Given the description of an element on the screen output the (x, y) to click on. 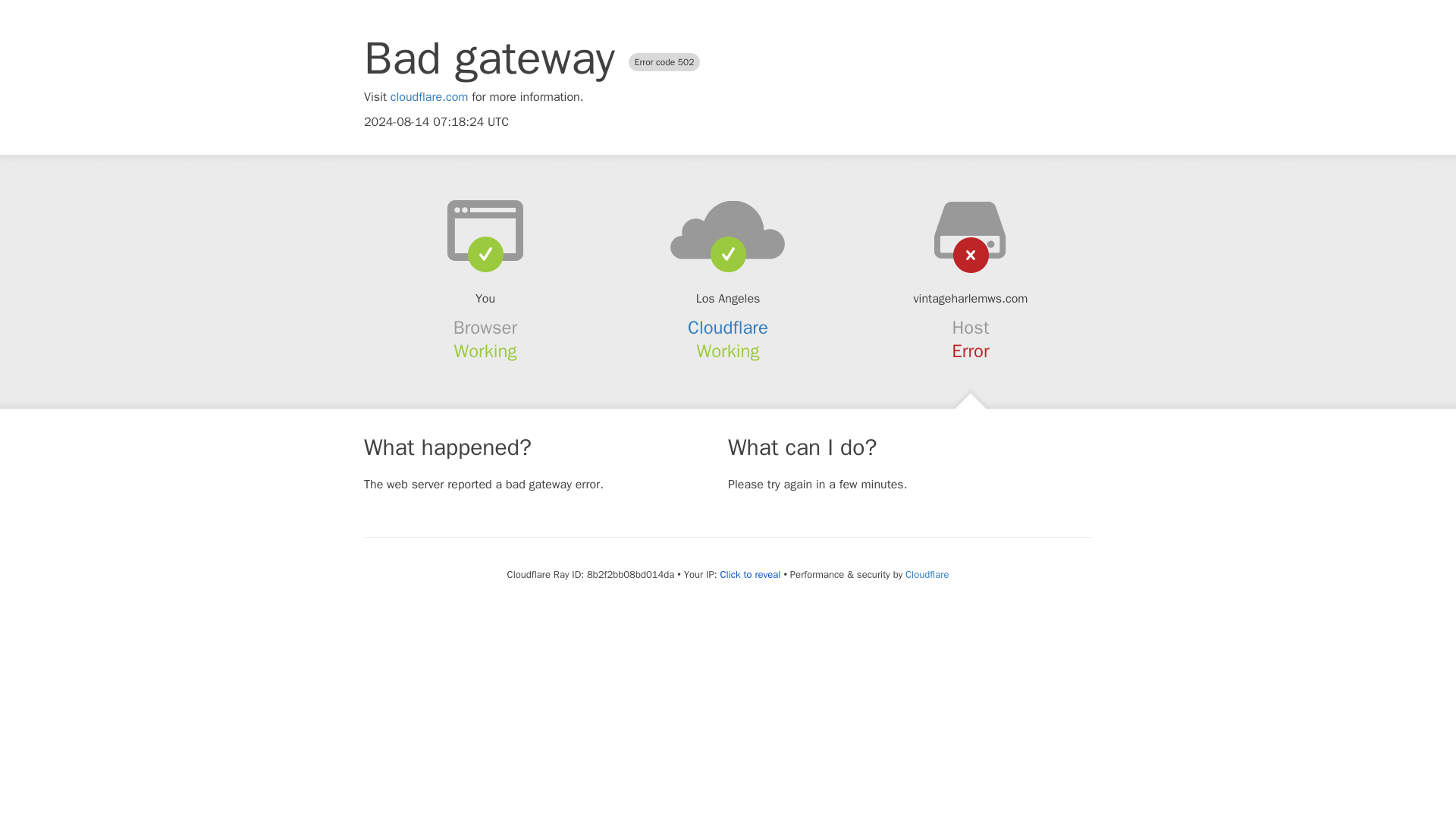
cloudflare.com (429, 96)
Click to reveal (750, 574)
Cloudflare (927, 574)
Cloudflare (727, 327)
